Given the description of an element on the screen output the (x, y) to click on. 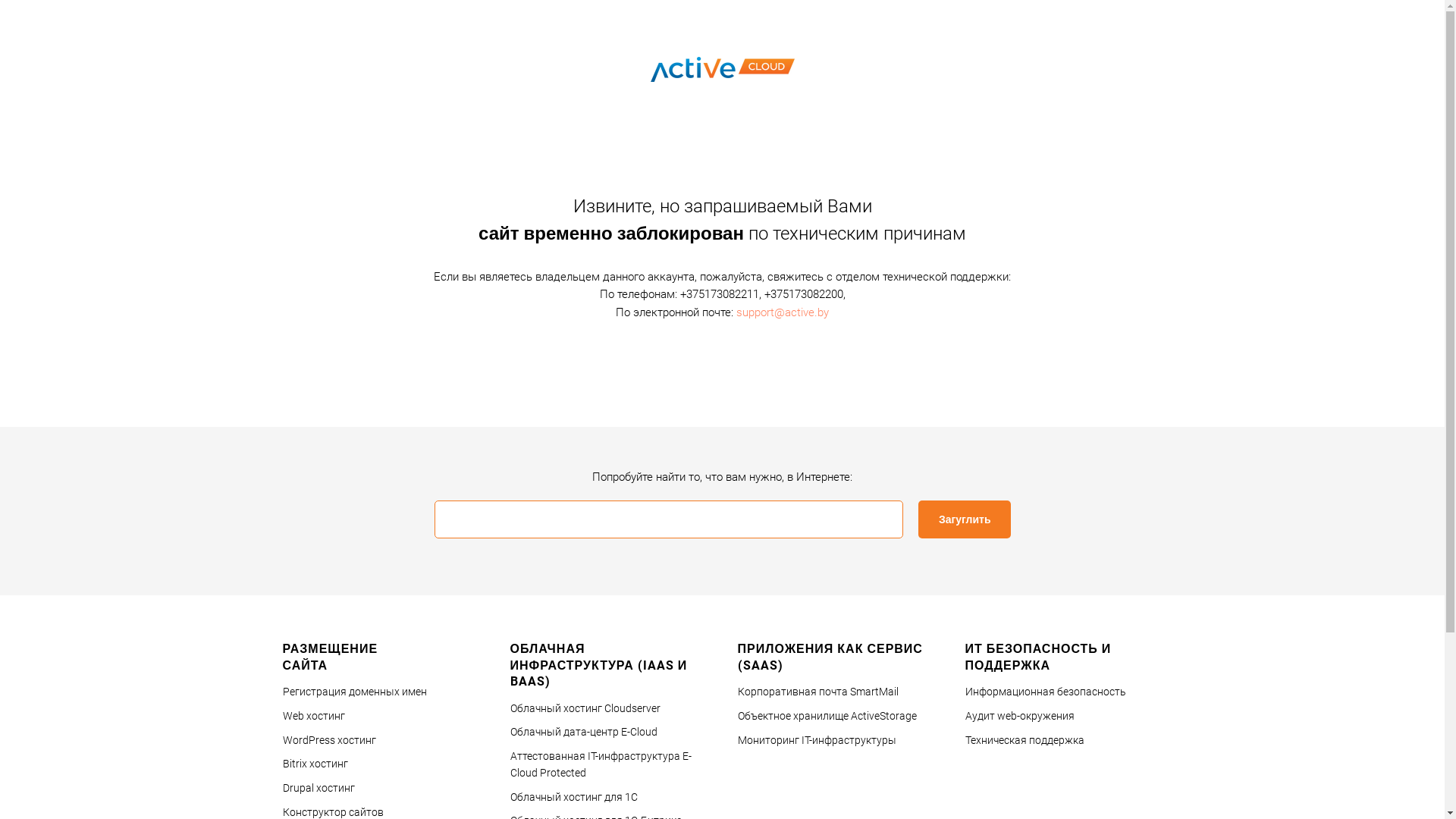
+375173082211 Element type: text (718, 294)
+375173082200 Element type: text (803, 294)
support@active.by Element type: text (782, 311)
